Given the description of an element on the screen output the (x, y) to click on. 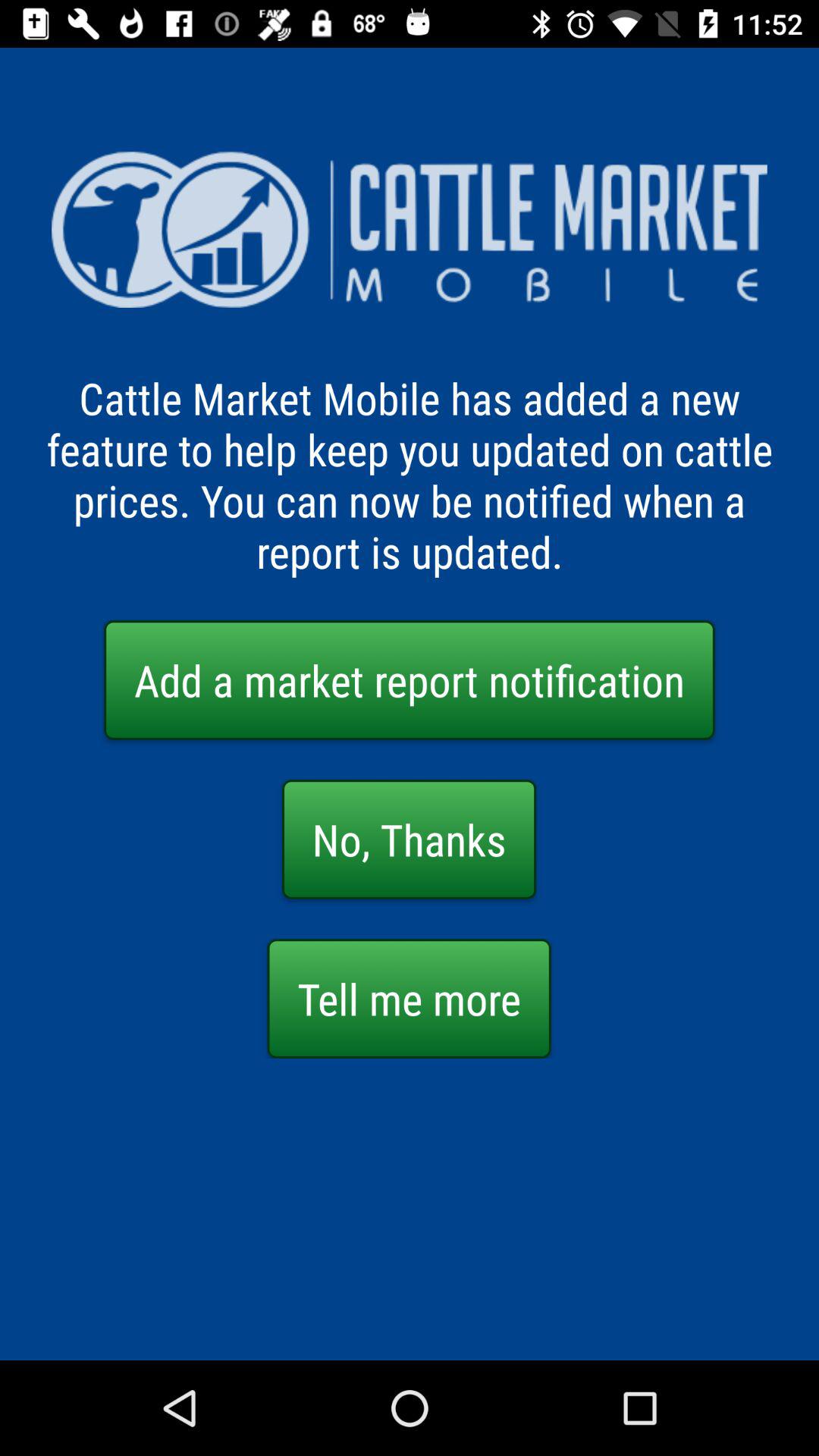
flip to the no, thanks button (409, 839)
